Given the description of an element on the screen output the (x, y) to click on. 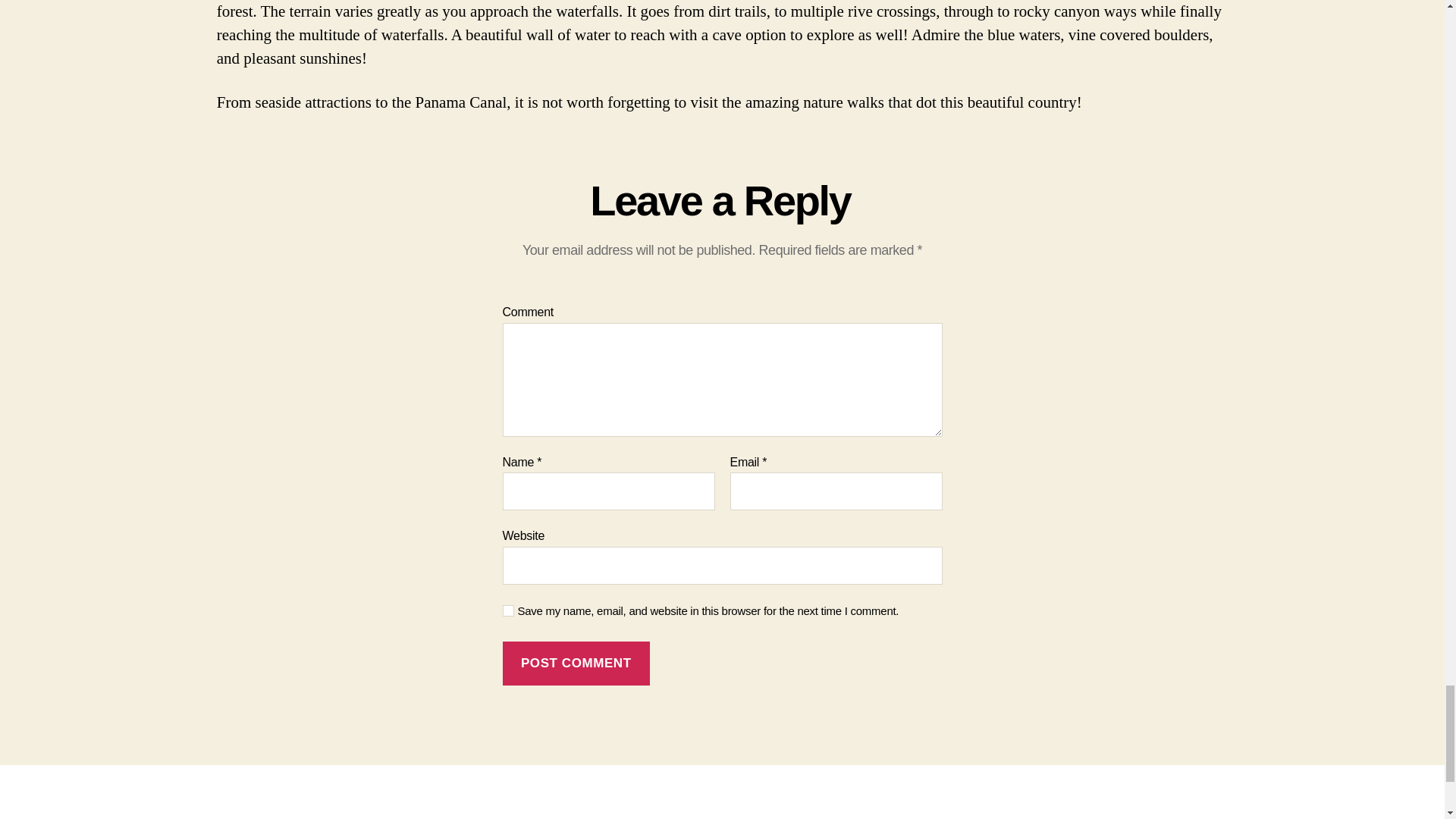
yes (507, 610)
Post Comment (575, 663)
